Given the description of an element on the screen output the (x, y) to click on. 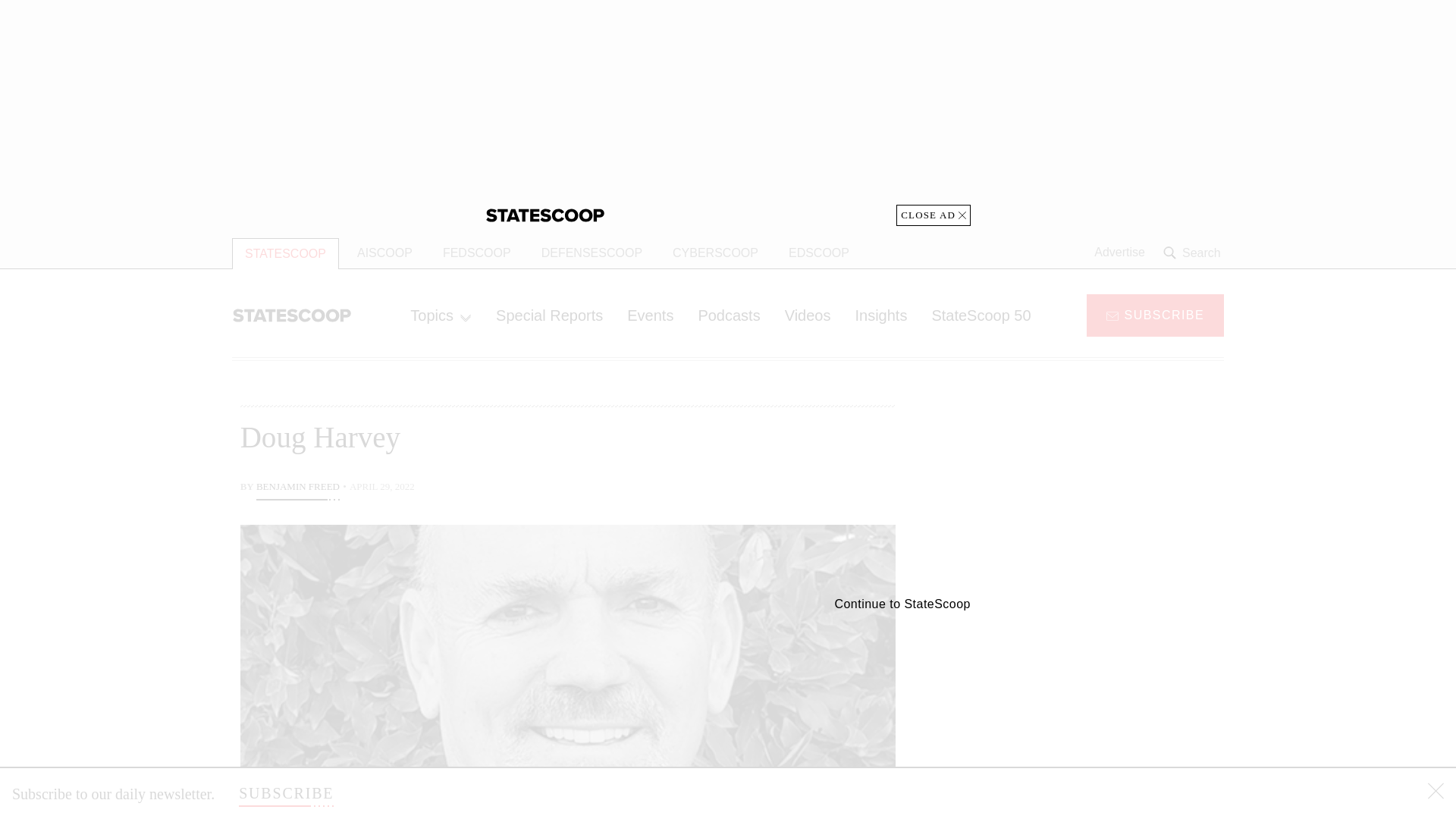
AISCOOP (385, 253)
Special Reports (548, 315)
Podcasts (728, 315)
Videos (808, 315)
STATESCOOP (285, 253)
Topics (440, 315)
Events (649, 315)
DEFENSESCOOP (591, 253)
FEDSCOOP (476, 253)
Insights (880, 315)
SUBSCRIBE (285, 793)
Benjamin Freed (297, 487)
SUBSCRIBE (1155, 314)
EDSCOOP (818, 253)
BENJAMIN FREED (297, 487)
